Given the description of an element on the screen output the (x, y) to click on. 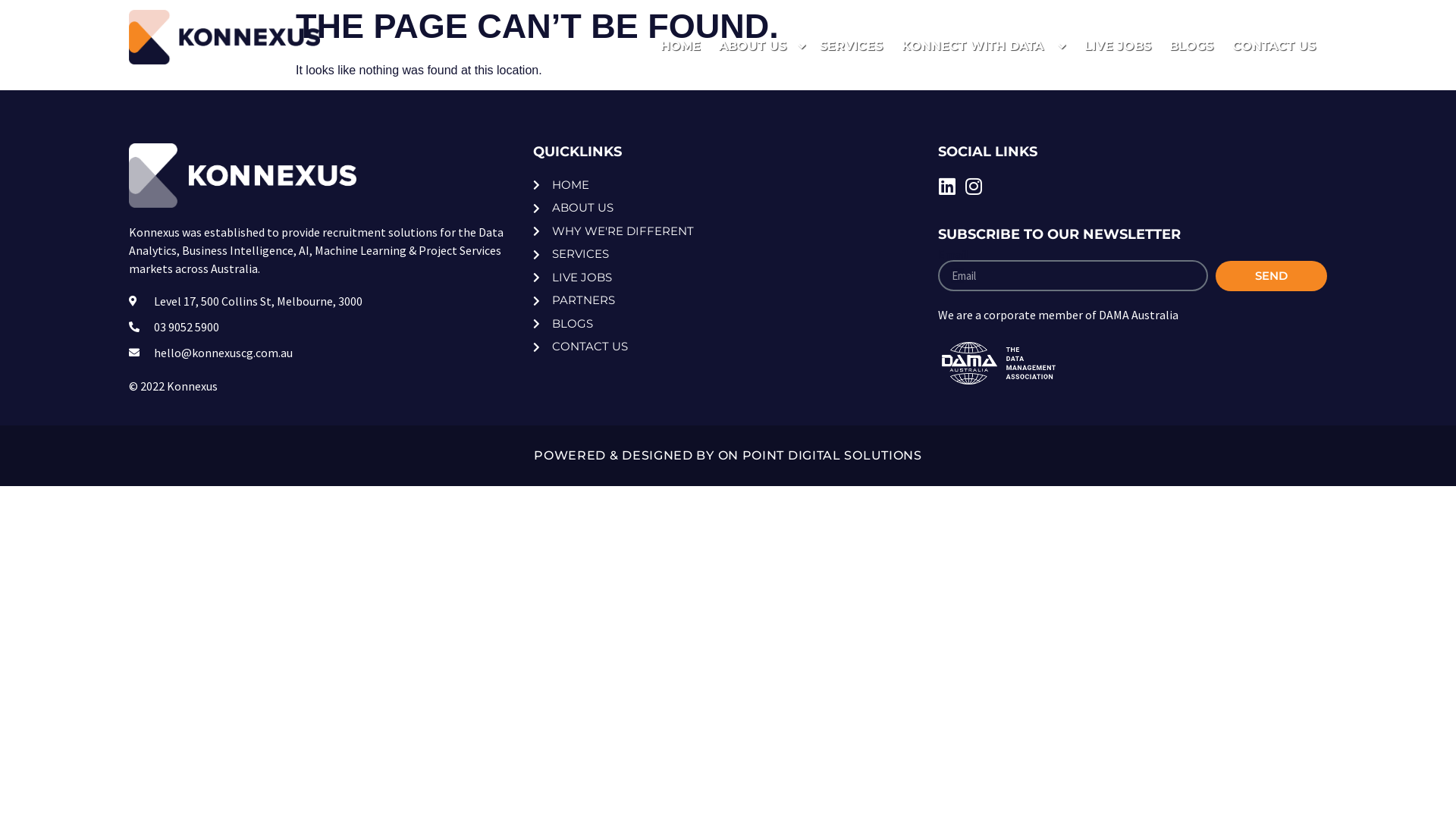
WHY WE'RE DIFFERENT Element type: text (727, 231)
03 9052 5900 Element type: text (1209, 16)
SERVICES Element type: text (727, 254)
SEND Element type: text (1271, 275)
hello@konnexuscg.com.au Element type: text (1241, 16)
CONTACT US Element type: text (727, 346)
ABOUT US Element type: text (727, 207)
SERVICES Element type: text (850, 45)
BLOGS Element type: text (727, 323)
ABOUT US Element type: text (752, 45)
LIVE JOBS Element type: text (1117, 45)
BLOGS Element type: text (1191, 45)
ABOUT US Element type: text (801, 46)
HOME Element type: text (680, 45)
CONTACT US Element type: text (1273, 45)
hello@konnexuscg.com.au Element type: text (322, 352)
KONNECT WITH DATA Element type: text (972, 45)
03 9052 5900 Element type: text (322, 326)
PARTNERS Element type: text (727, 300)
POWERED & DESIGNED BY ON POINT DIGITAL SOLUTIONS Element type: text (727, 455)
KONNECT WITH DATA Element type: text (1061, 45)
LIVE JOBS Element type: text (727, 277)
HOME Element type: text (727, 185)
